Given the description of an element on the screen output the (x, y) to click on. 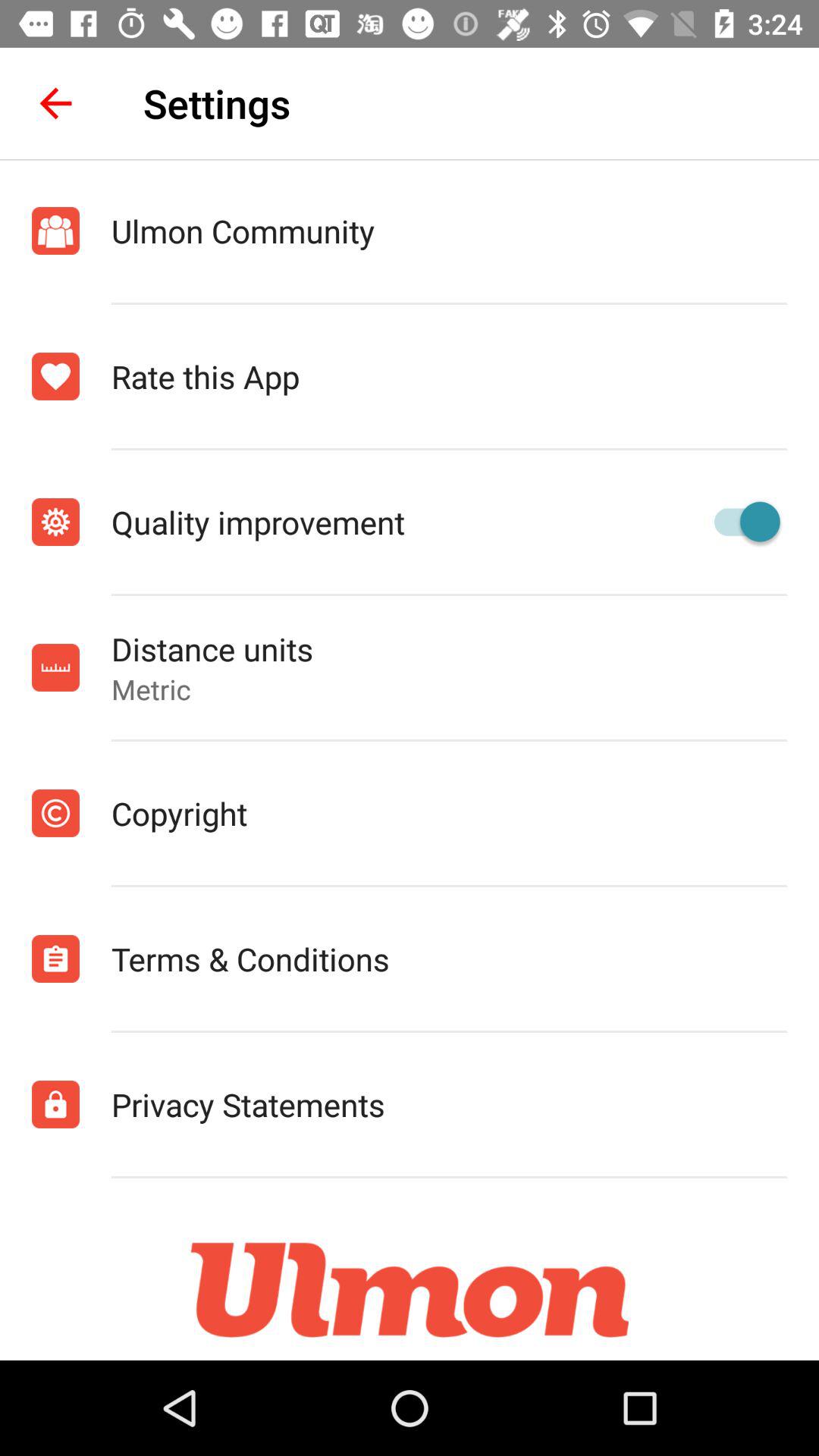
press item next to settings icon (55, 103)
